Given the description of an element on the screen output the (x, y) to click on. 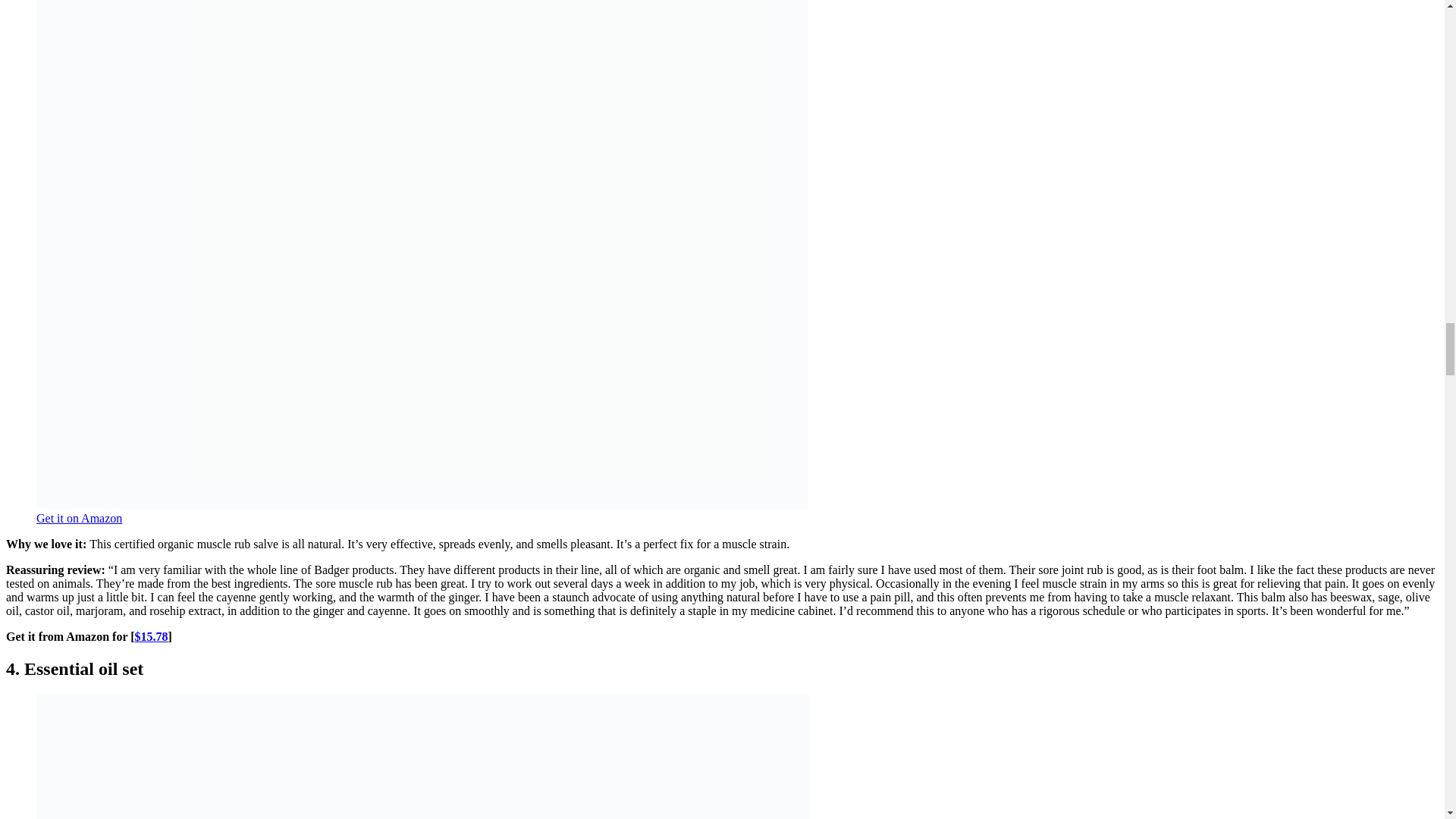
Get it on Amazon (79, 517)
